Given the description of an element on the screen output the (x, y) to click on. 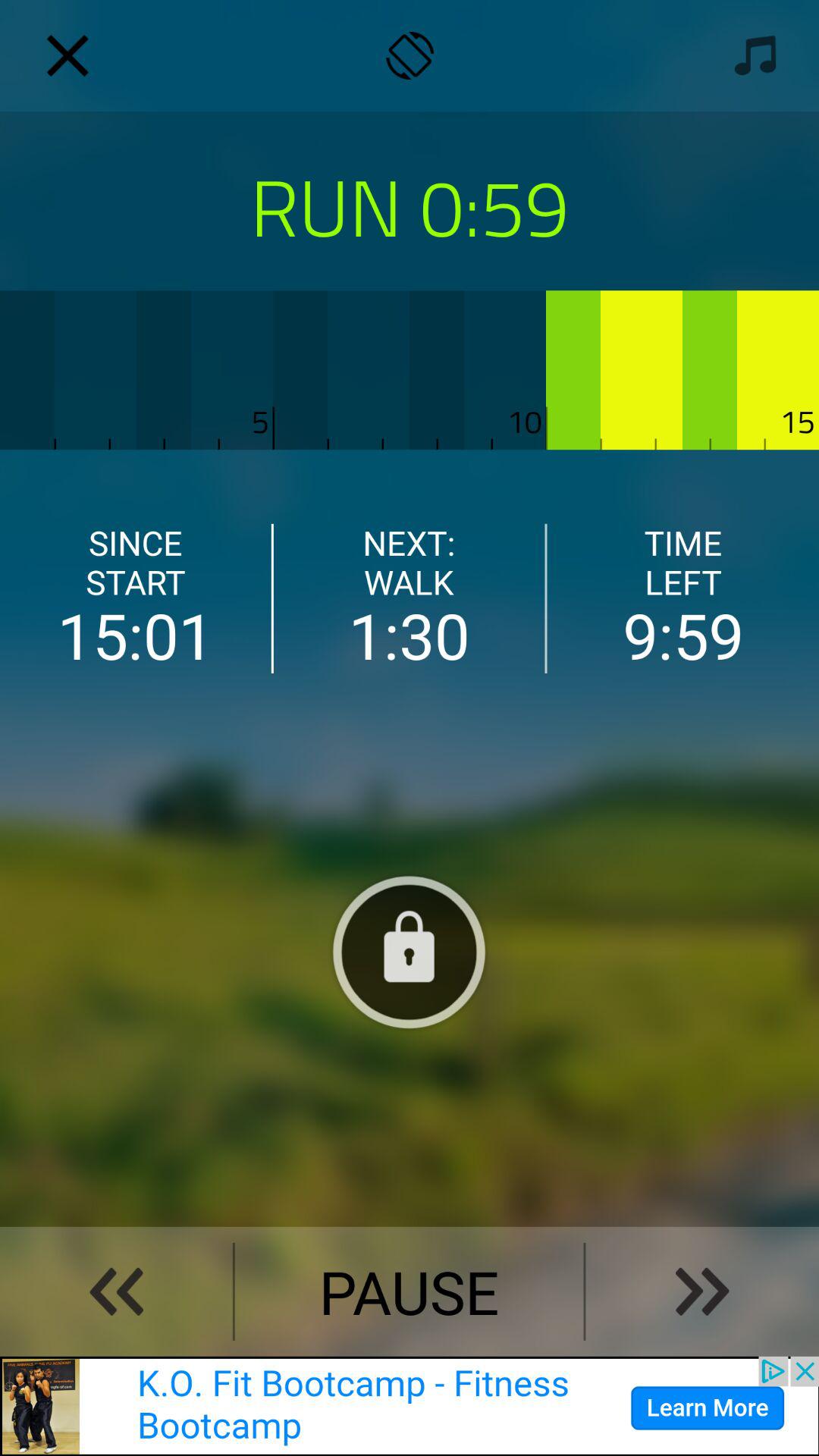
toggle sound (751, 55)
